Given the description of an element on the screen output the (x, y) to click on. 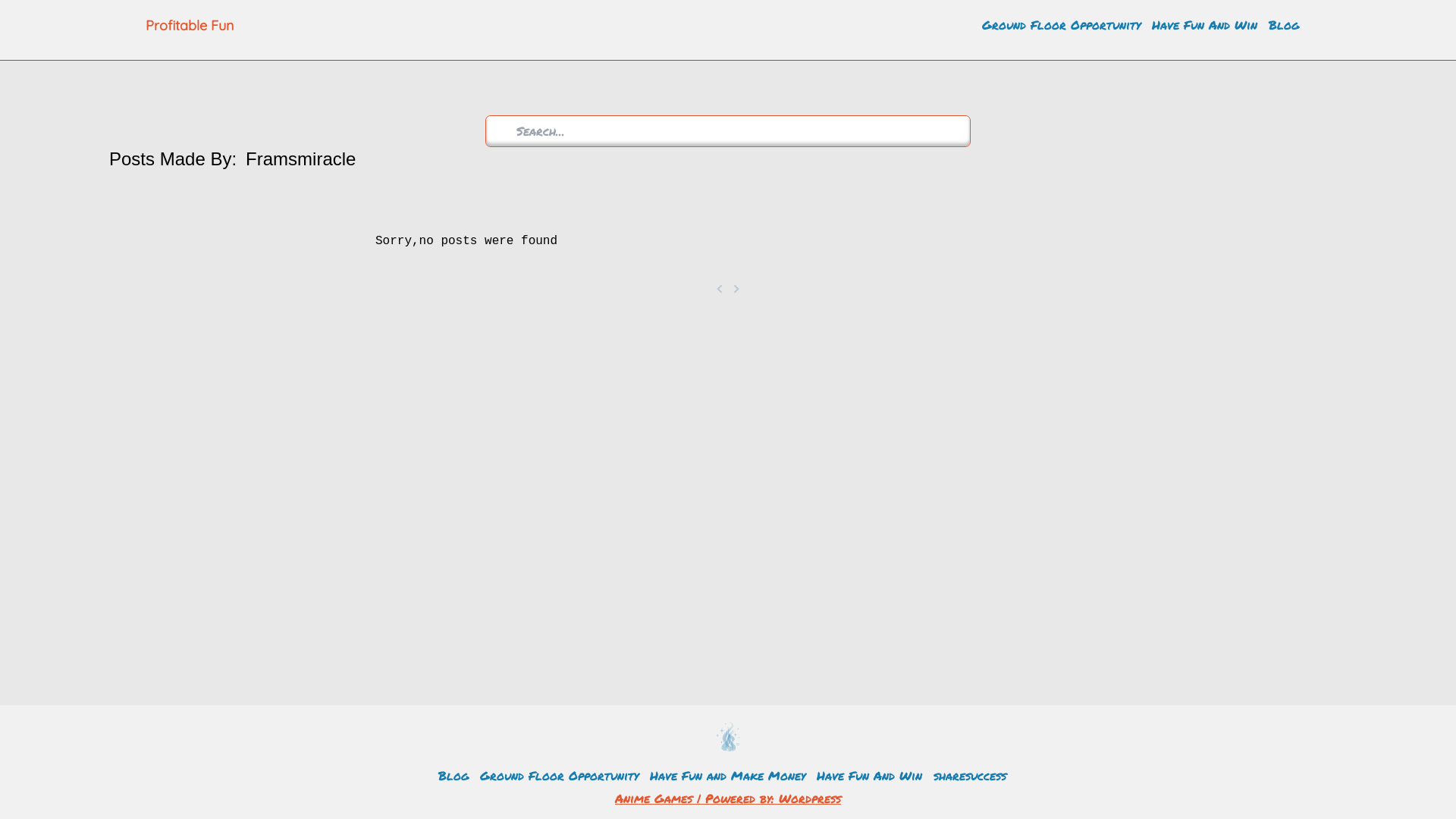
Profitable Fun Element type: text (205, 25)
Have Fun And Win Element type: text (1204, 23)
Blog Element type: text (453, 775)
sharesuccess Element type: text (969, 775)
Have Fun and Make Money Element type: text (727, 775)
Anime Games | Powered by: Wordpress Element type: text (727, 797)
Have Fun And Win Element type: text (869, 775)
Blog Element type: text (1283, 23)
Ground Floor Opportunity Element type: text (1061, 23)
Ground Floor Opportunity Element type: text (559, 775)
